Given the description of an element on the screen output the (x, y) to click on. 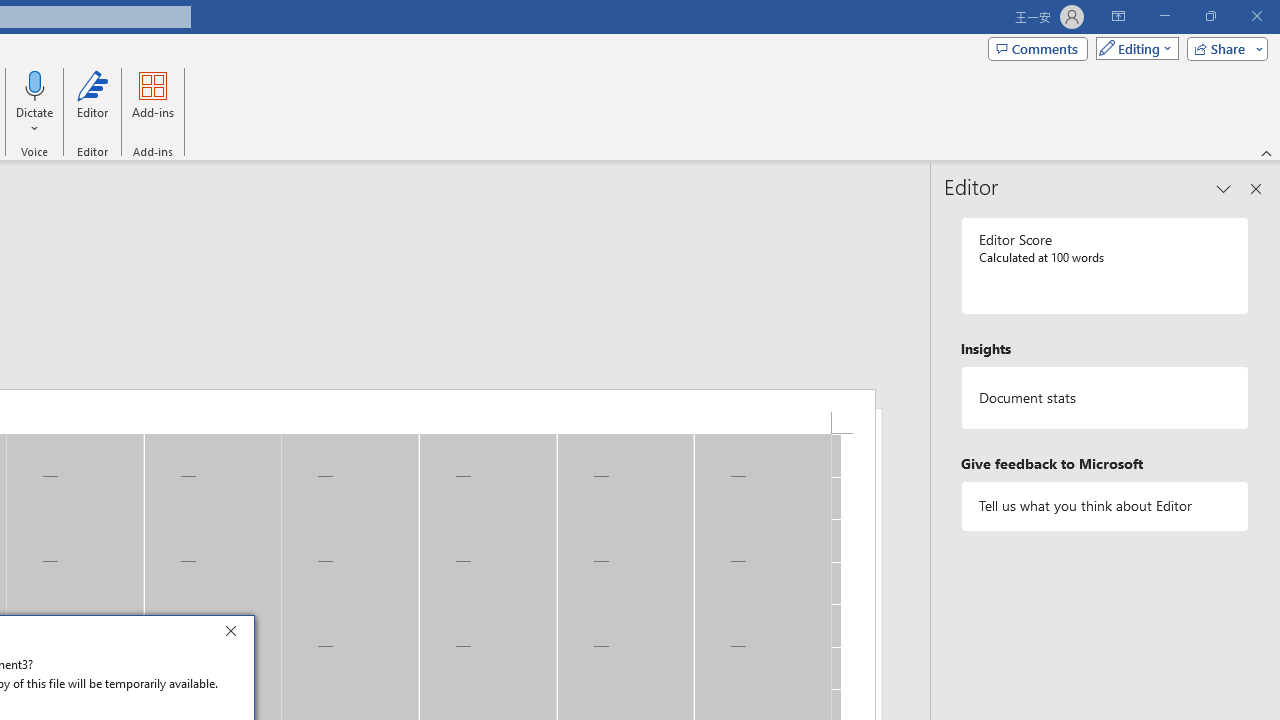
Tell us what you think about Editor (1105, 506)
Document statistics (1105, 398)
